Given the description of an element on the screen output the (x, y) to click on. 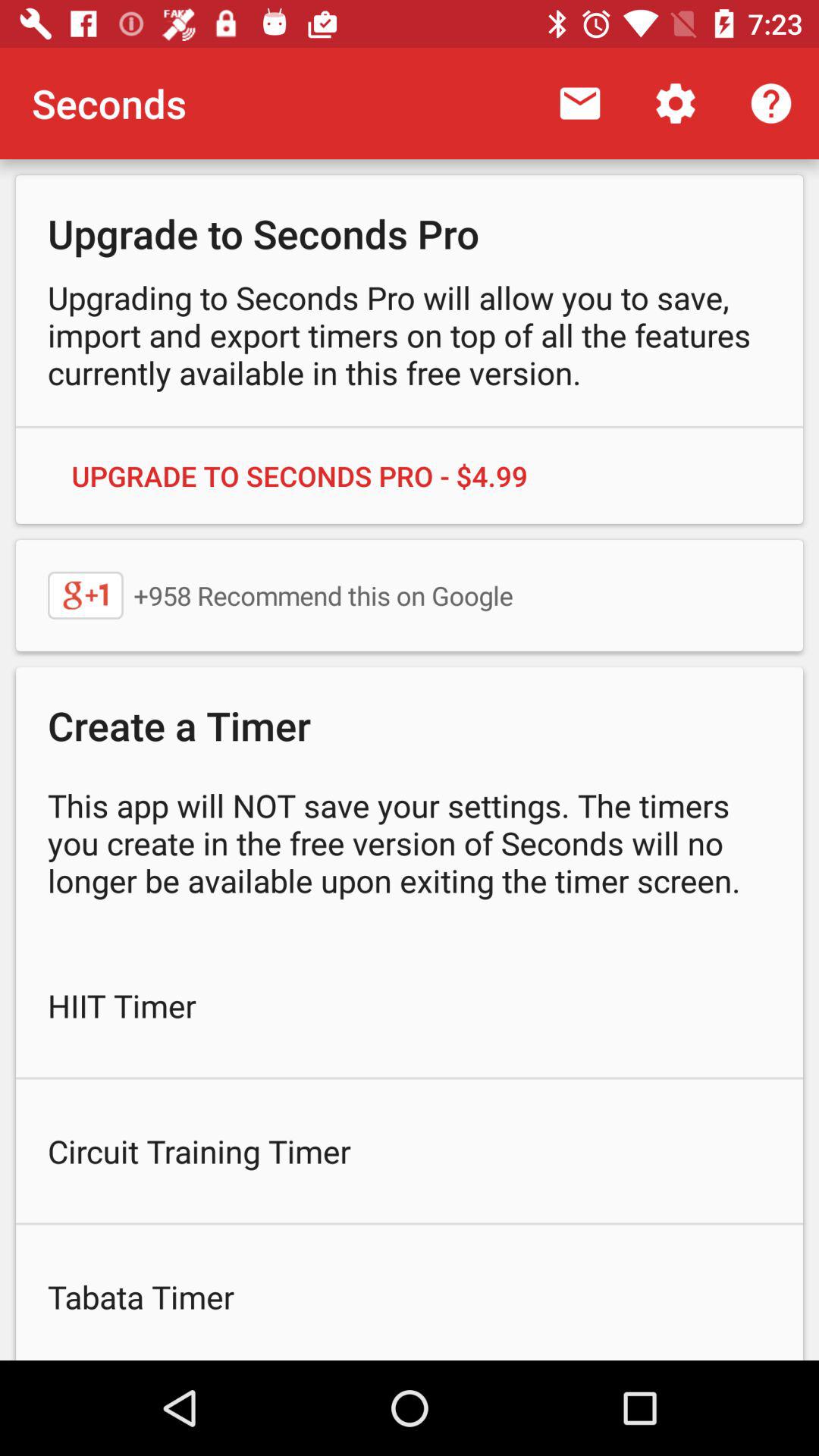
select the text immediately below hiit timer (409, 1151)
go to settings (675, 103)
